Given the description of an element on the screen output the (x, y) to click on. 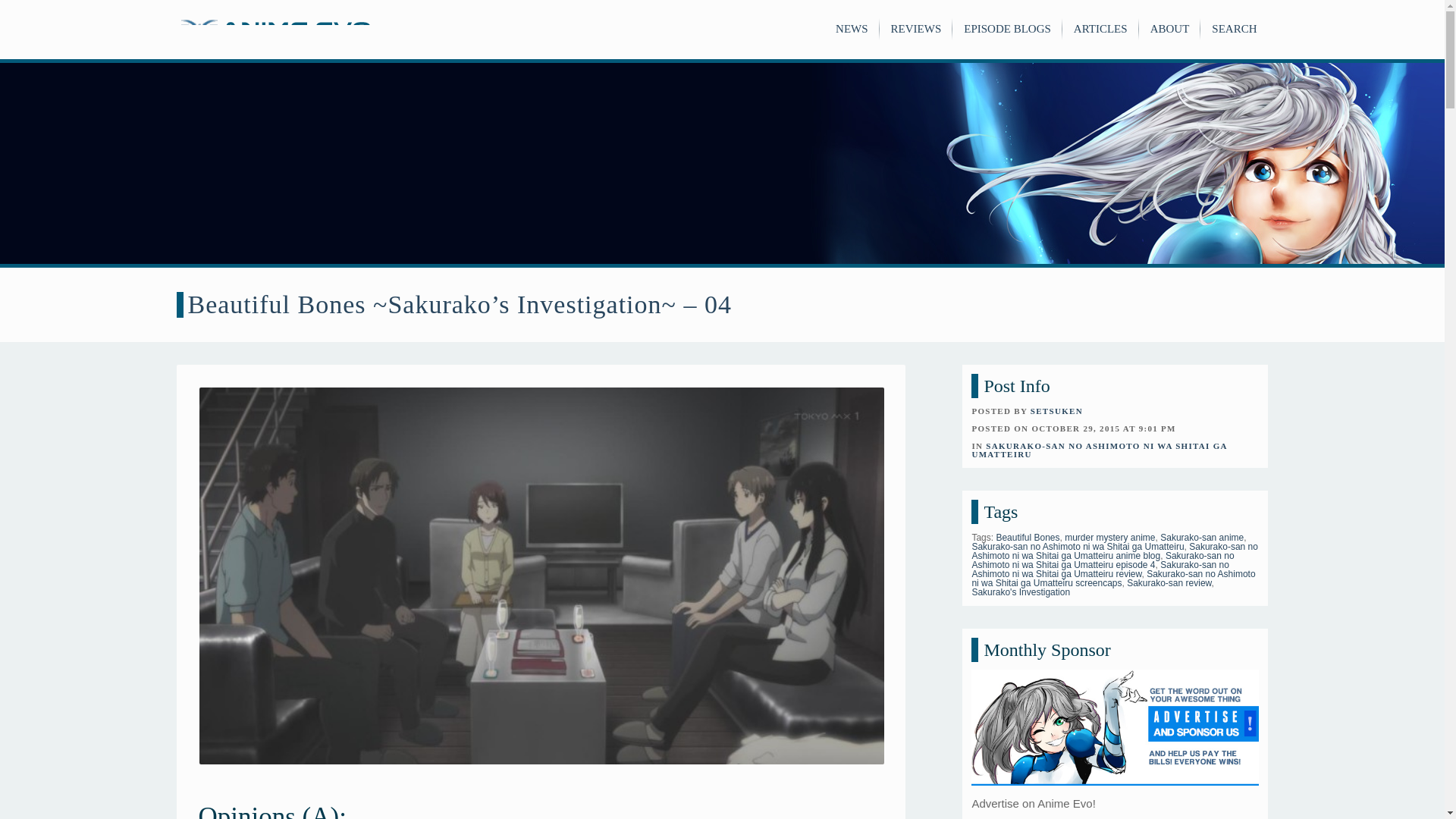
Sakurako-san no Ashimoto ni wa Shitai ga Umatteiru (1077, 546)
REVIEWS (916, 28)
murder mystery anime (1109, 537)
EPISODE BLOGS (1007, 28)
Posts by setsuken (1056, 410)
NEWS (851, 28)
Beautiful Bones (1027, 537)
Sakurako-san no Ashimoto ni wa Shitai ga Umatteiru episode 4 (1102, 560)
SETSUKEN (1056, 410)
